Given the description of an element on the screen output the (x, y) to click on. 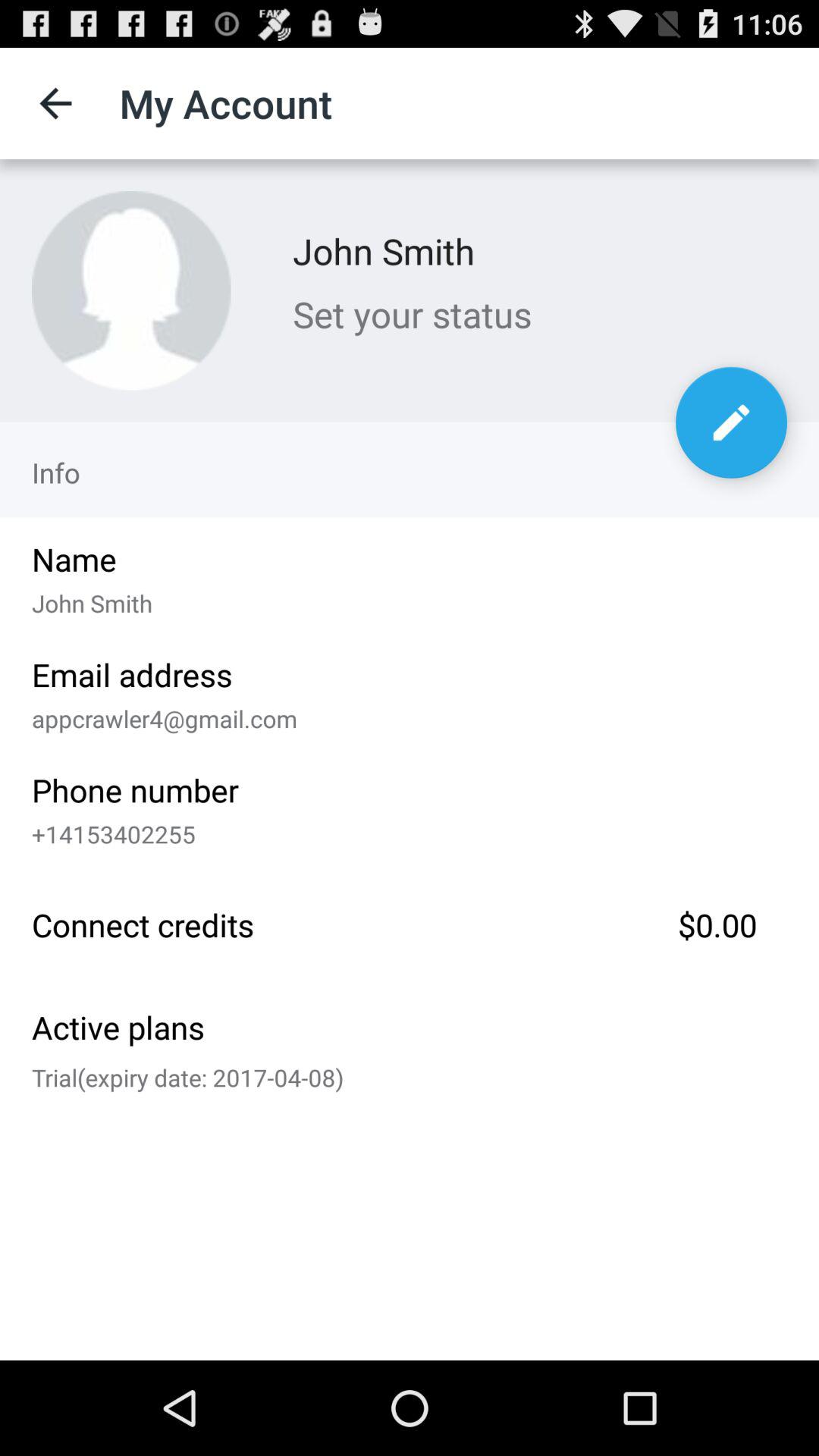
shows profile photo (130, 290)
